Given the description of an element on the screen output the (x, y) to click on. 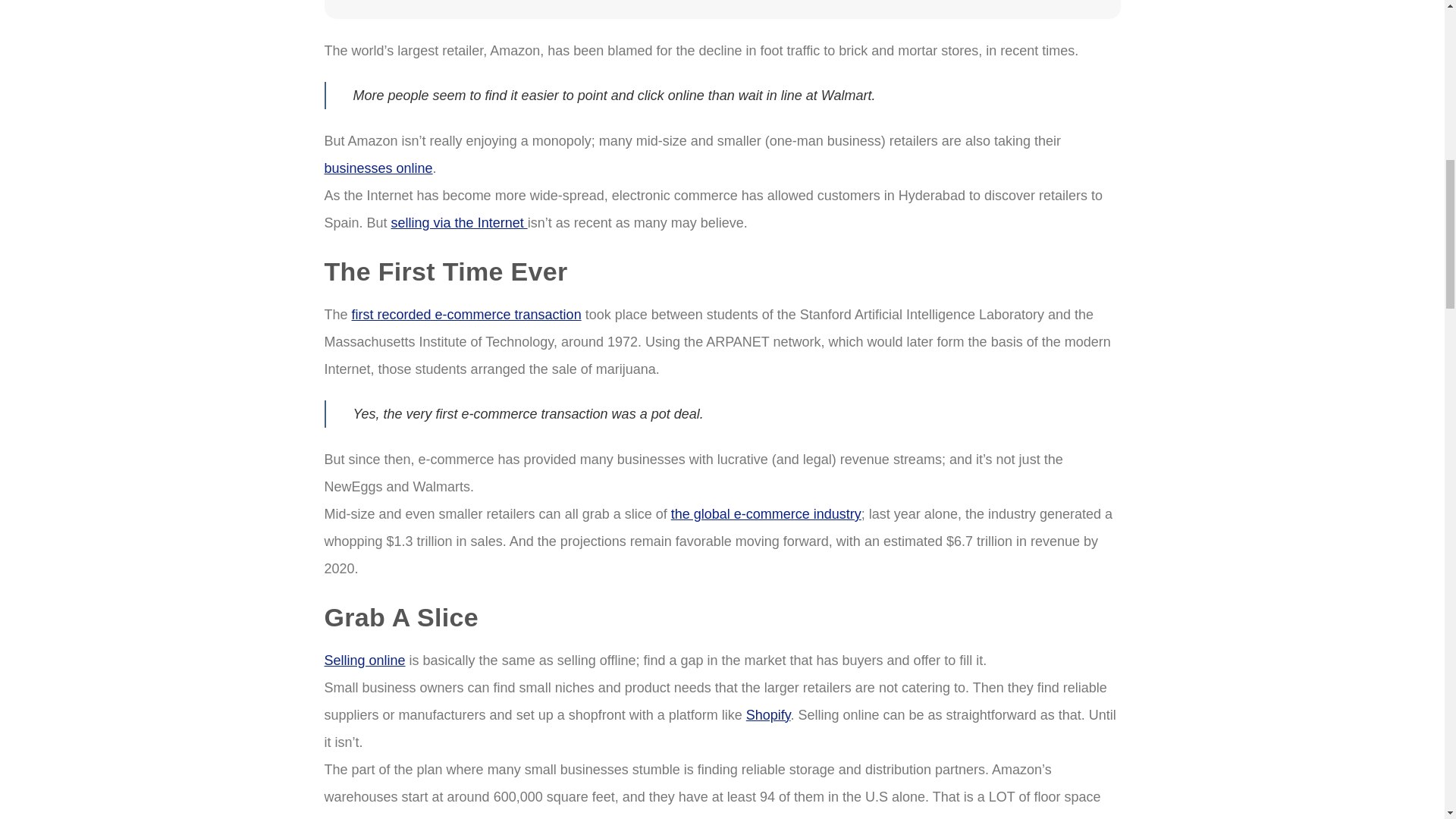
first recorded e-commerce transaction (466, 314)
the global e-commerce industry (766, 513)
Shopify (767, 714)
Selling online (365, 660)
selling via the Internet (459, 222)
businesses online (378, 168)
